Given the description of an element on the screen output the (x, y) to click on. 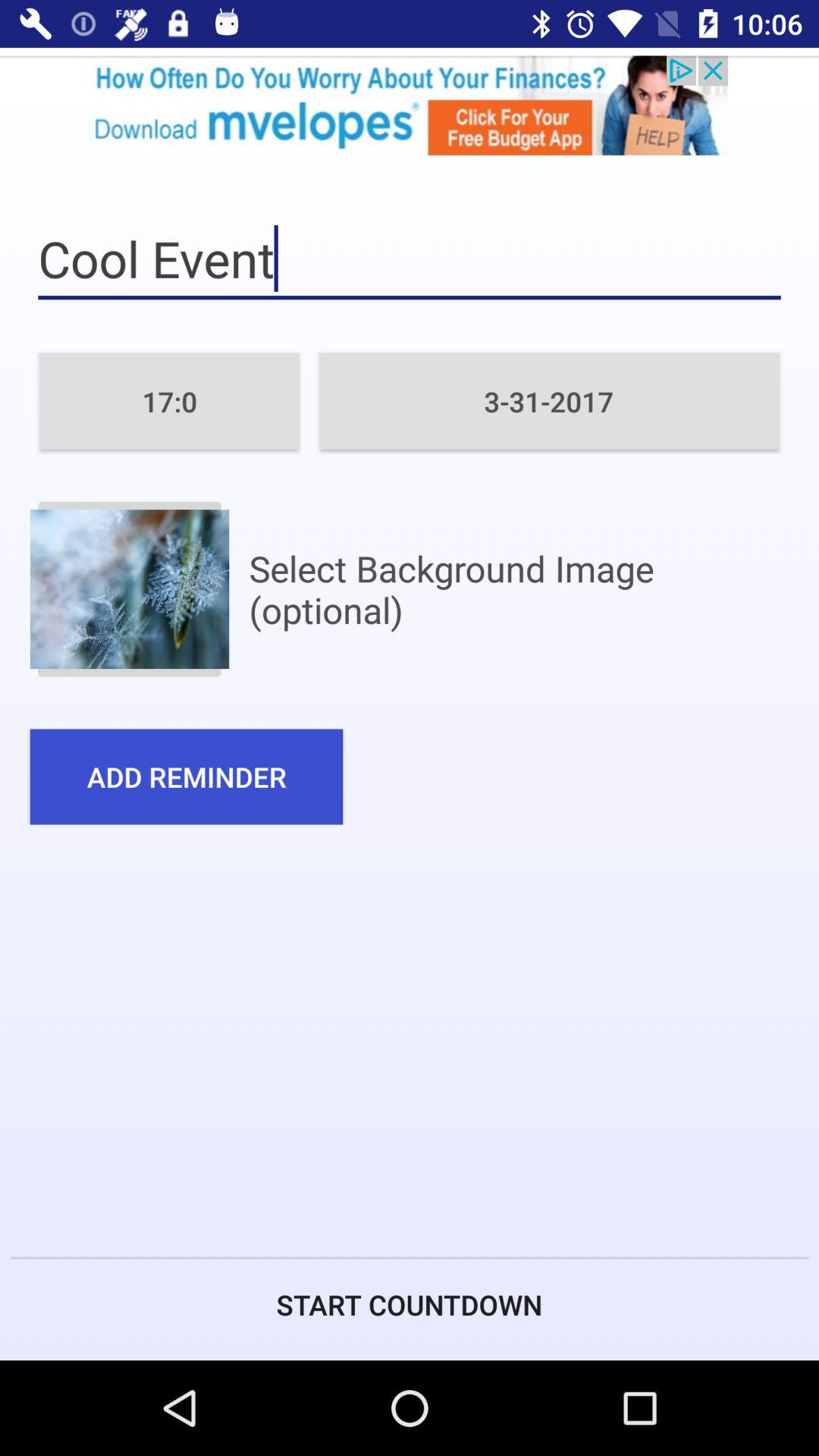
advertisement banner (409, 105)
